Given the description of an element on the screen output the (x, y) to click on. 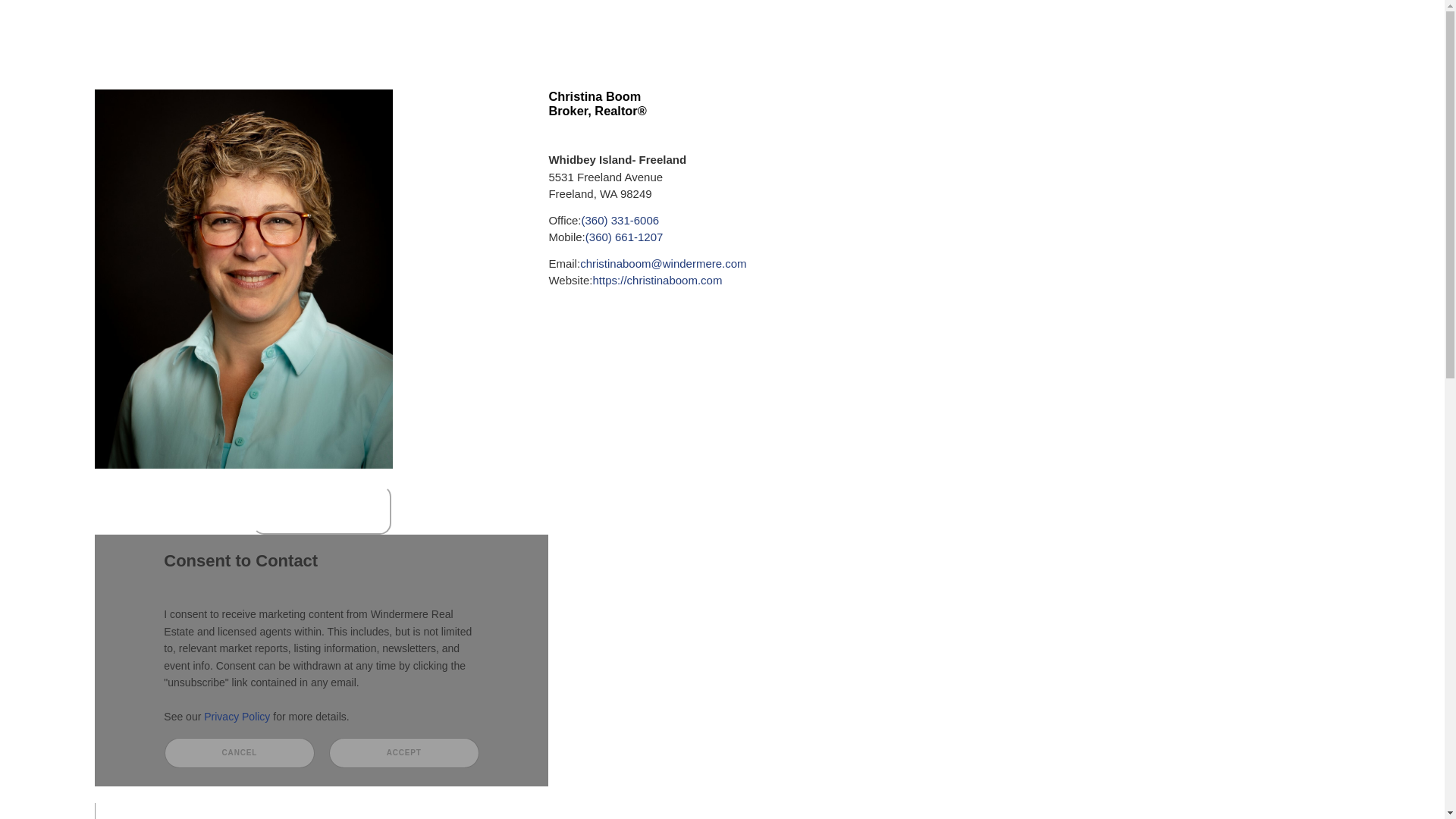
North Whidbey (298, 145)
CANCEL (239, 752)
ACCEPT (404, 752)
WORK WITH ME (321, 509)
Property Search (298, 75)
Financial Calculators (514, 158)
Property Search (301, 107)
Home (118, 161)
Neighborhood News (901, 161)
Central Whidbey (302, 132)
Bio (985, 161)
New Listings on South Whidbey (344, 158)
Client Reviews (194, 161)
Privacy Policy (236, 716)
Contact Me (794, 161)
